Given the description of an element on the screen output the (x, y) to click on. 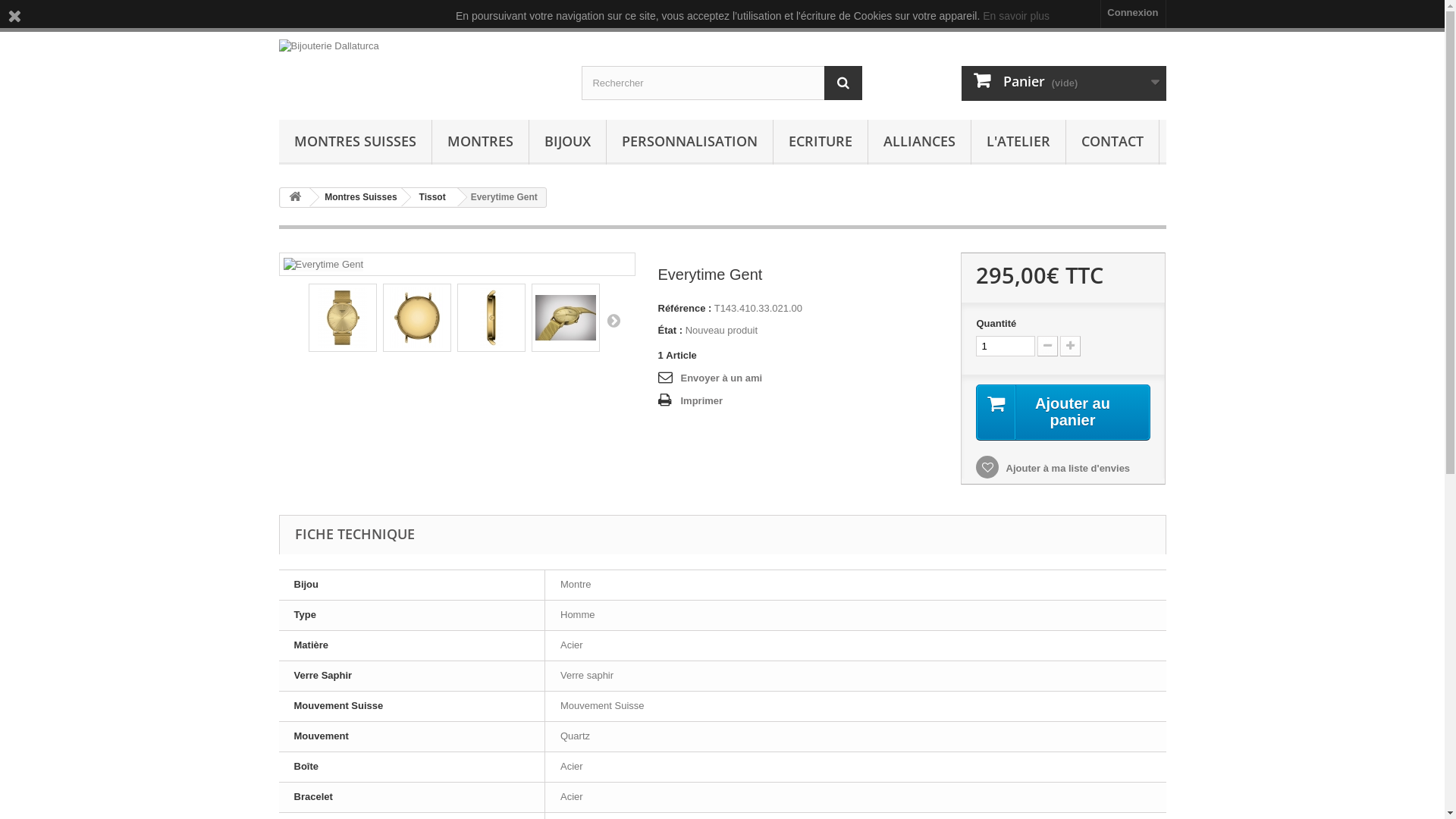
Everytime Gent Element type: hover (565, 317)
Everytime Gent Element type: hover (416, 317)
MONTRES SUISSES Element type: text (355, 141)
Everytime Gent Element type: hover (564, 317)
Everytime Gent Element type: hover (490, 317)
MONTRES Element type: text (480, 141)
Ajouter au panier Element type: text (1062, 412)
Panier (vide) Element type: text (1063, 82)
BIJOUX Element type: text (567, 141)
Everytime Gent Element type: hover (491, 317)
Everytime Gent Element type: hover (323, 264)
Connexion Element type: text (1132, 14)
Everytime Gent Element type: hover (341, 317)
Tissot Element type: text (429, 197)
Everytime Gent Element type: hover (416, 317)
Suivant Element type: text (612, 319)
PERSONNALISATION Element type: text (689, 141)
Imprimer Element type: text (690, 400)
ALLIANCES Element type: text (918, 141)
Everytime Gent Element type: hover (342, 317)
CONTACT Element type: text (1112, 141)
ECRITURE Element type: text (820, 141)
Bijouterie Dallaturca Element type: hover (419, 68)
L'ATELIER Element type: text (1017, 141)
Montres Suisses Element type: text (357, 197)
En savoir plus Element type: text (1015, 15)
